Given the description of an element on the screen output the (x, y) to click on. 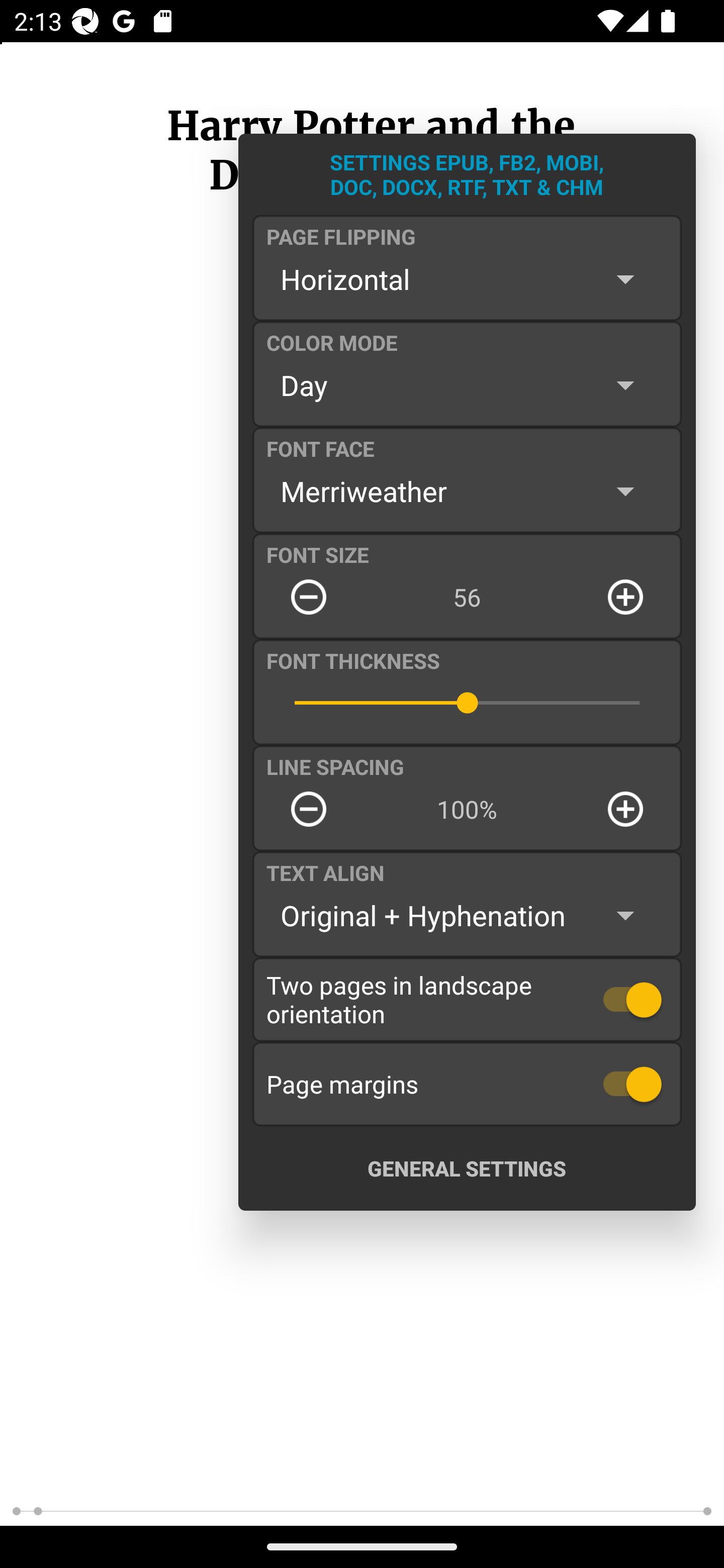
Horizontal (466, 278)
Day (466, 384)
Merriweather (466, 490)
Original + Hyphenation (466, 915)
Two pages in landscape orientation (467, 999)
Page margins (467, 1083)
GENERAL SETTINGS (466, 1167)
